Given the description of an element on the screen output the (x, y) to click on. 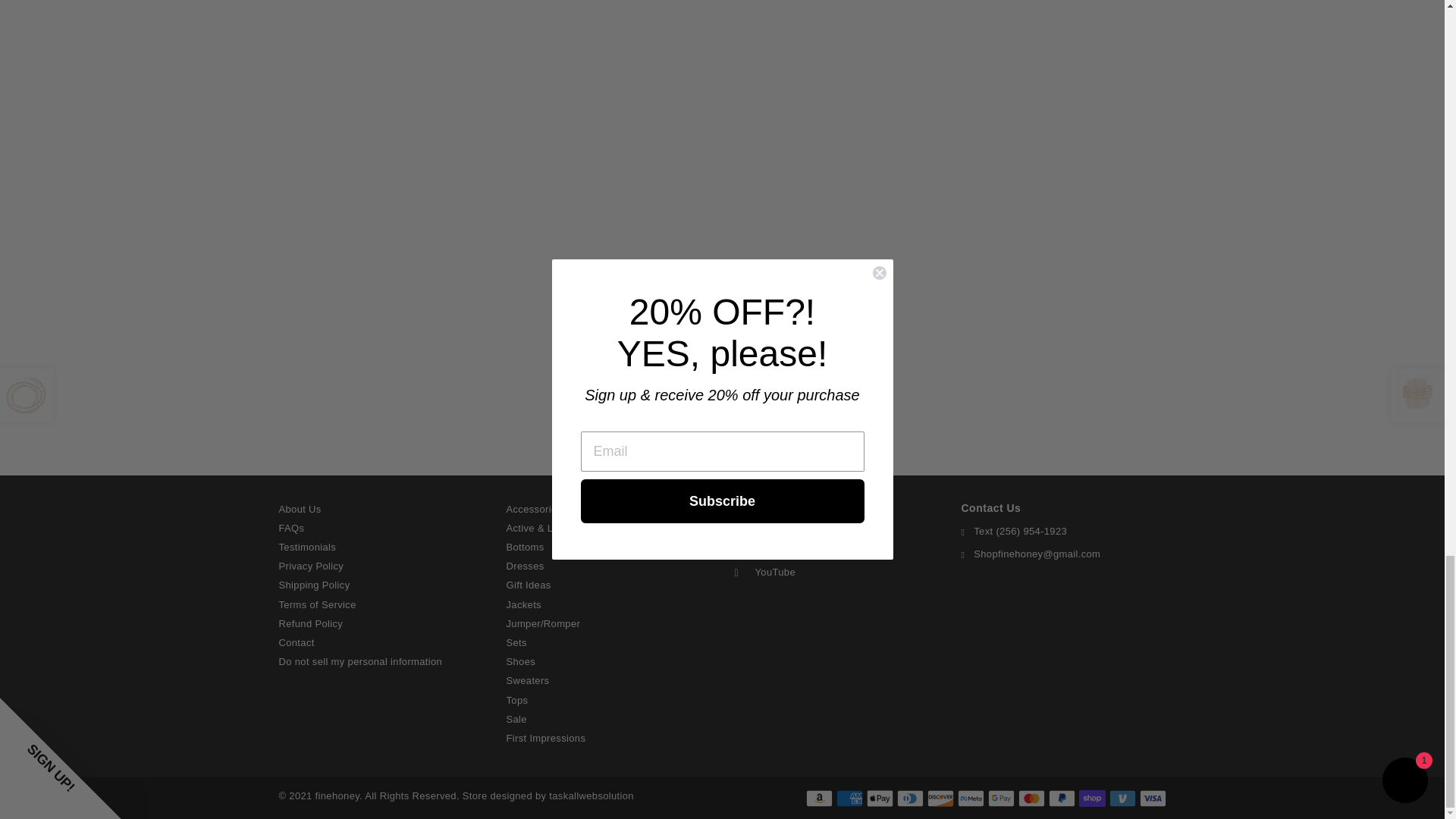
Discover (939, 798)
Apple Pay (879, 798)
Meta Pay (970, 798)
Venmo (1121, 798)
Google Pay (1000, 798)
PayPal (1061, 798)
Mastercard (1030, 798)
Amazon (818, 798)
Shop Pay (1091, 798)
Diners Club (909, 798)
Visa (1152, 798)
American Express (848, 798)
